Given the description of an element on the screen output the (x, y) to click on. 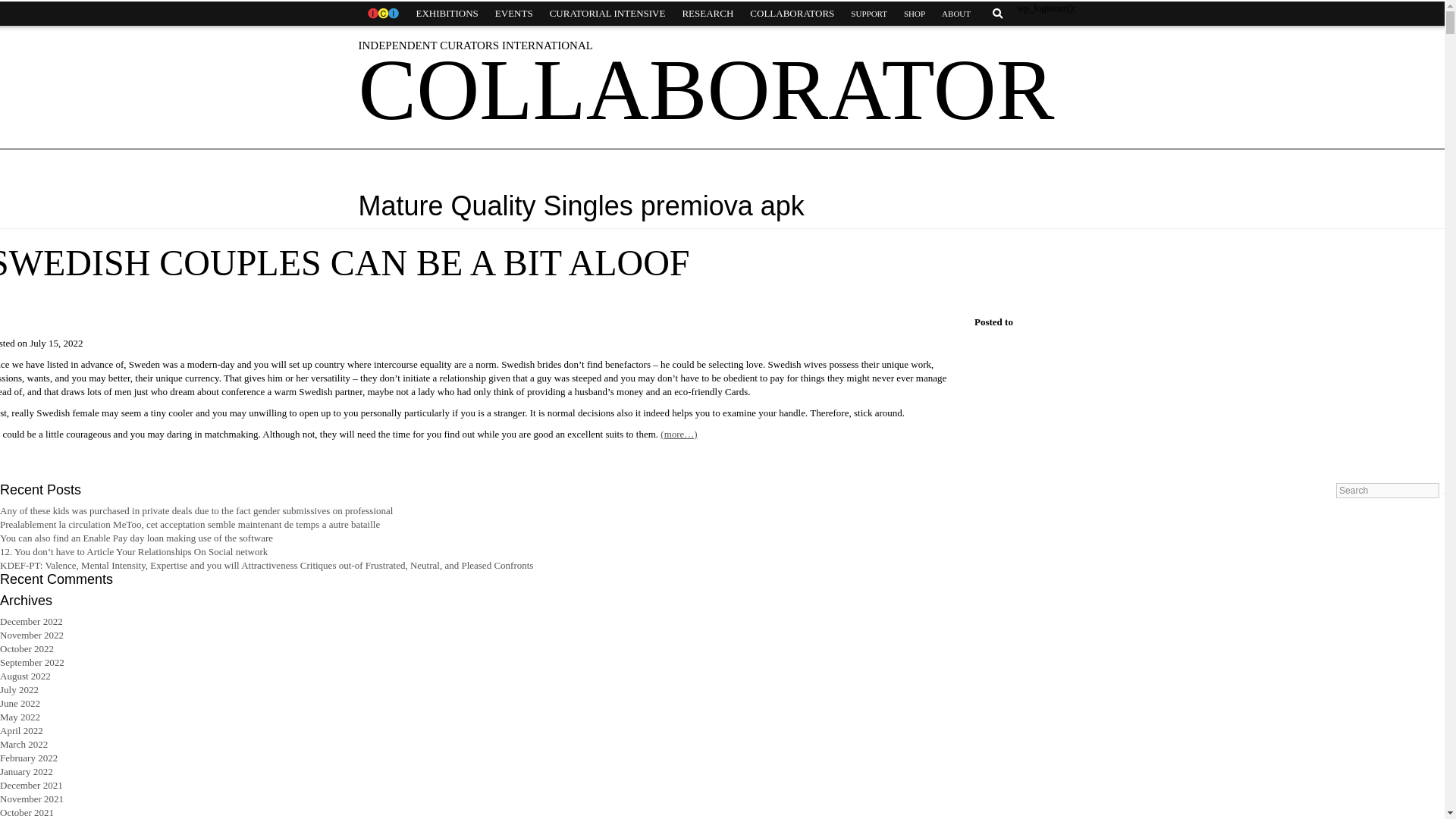
EVENTS (513, 13)
RESEARCH (706, 13)
CURATORIAL INTENSIVE (607, 13)
COLLABORATORS (792, 13)
HOME (382, 13)
EXHIBITIONS (446, 13)
